Given the description of an element on the screen output the (x, y) to click on. 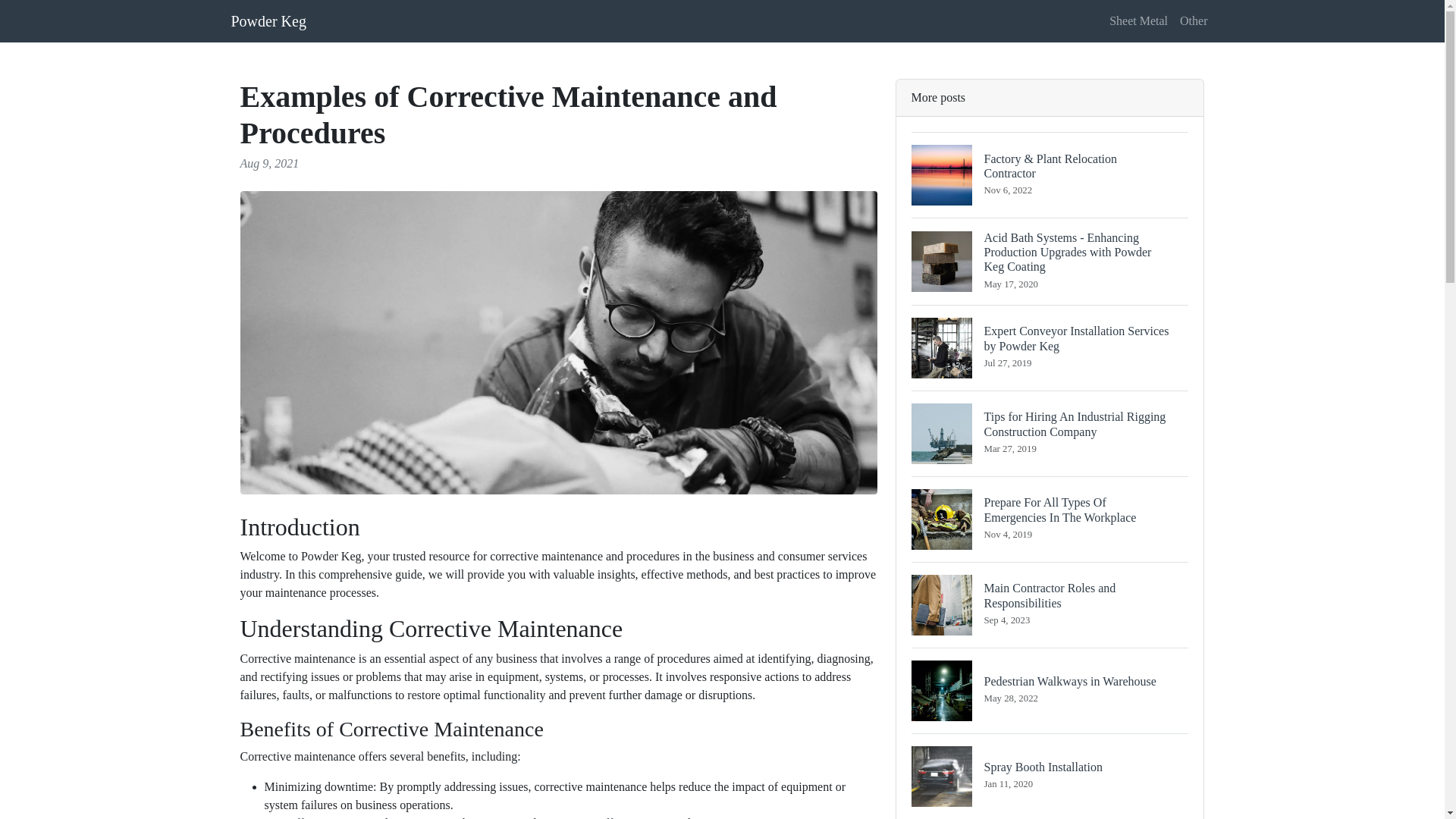
Sheet Metal (1138, 20)
Other (1192, 20)
Powder Keg (1050, 776)
